Given the description of an element on the screen output the (x, y) to click on. 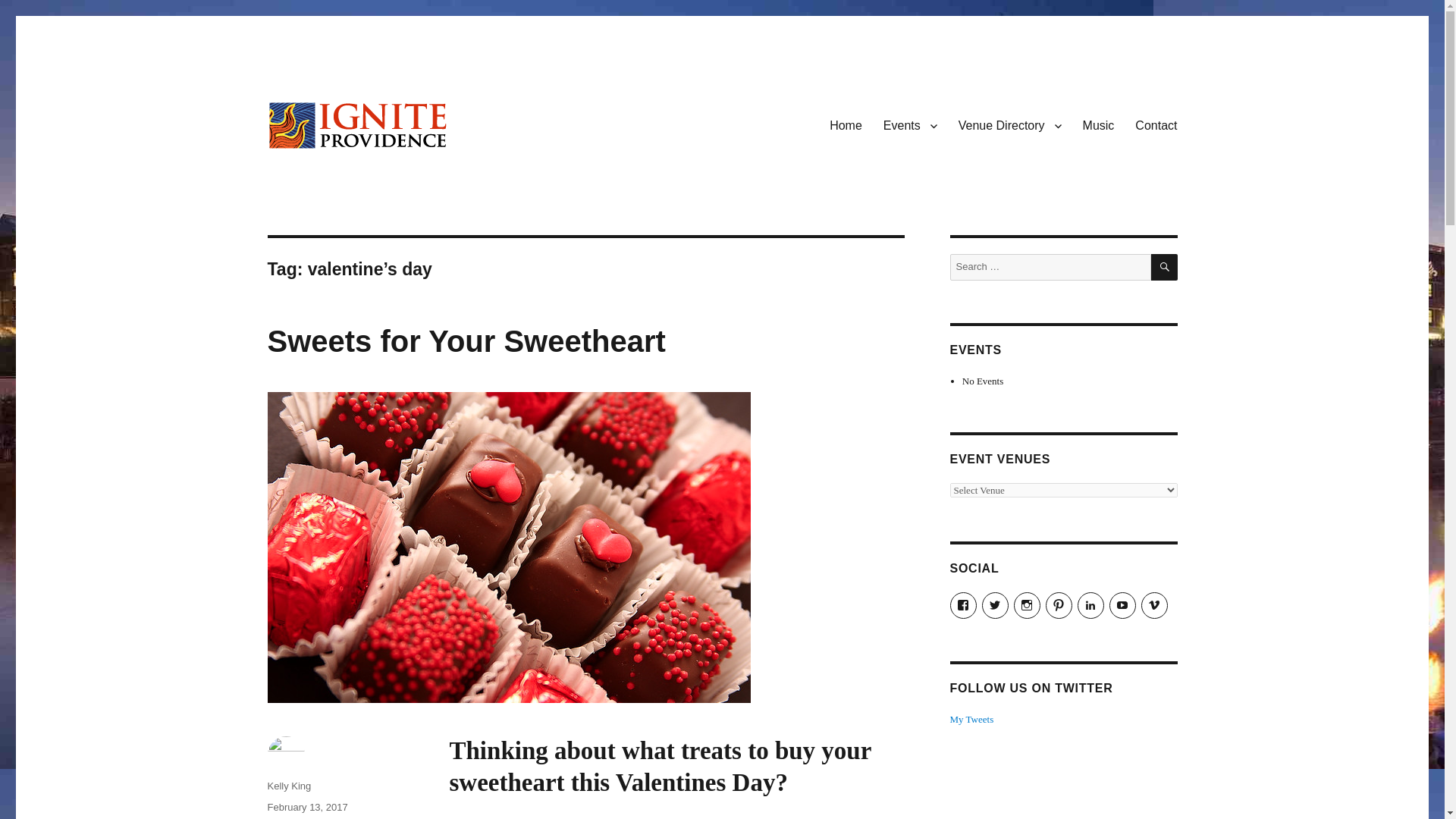
February 13, 2017 (306, 807)
Venue Directory (1009, 124)
Home (845, 124)
Ignite Providence (355, 173)
Contact (1156, 124)
Music (1098, 124)
Sweets for Your Sweetheart (465, 340)
Events (909, 124)
Kelly King (288, 785)
